Given the description of an element on the screen output the (x, y) to click on. 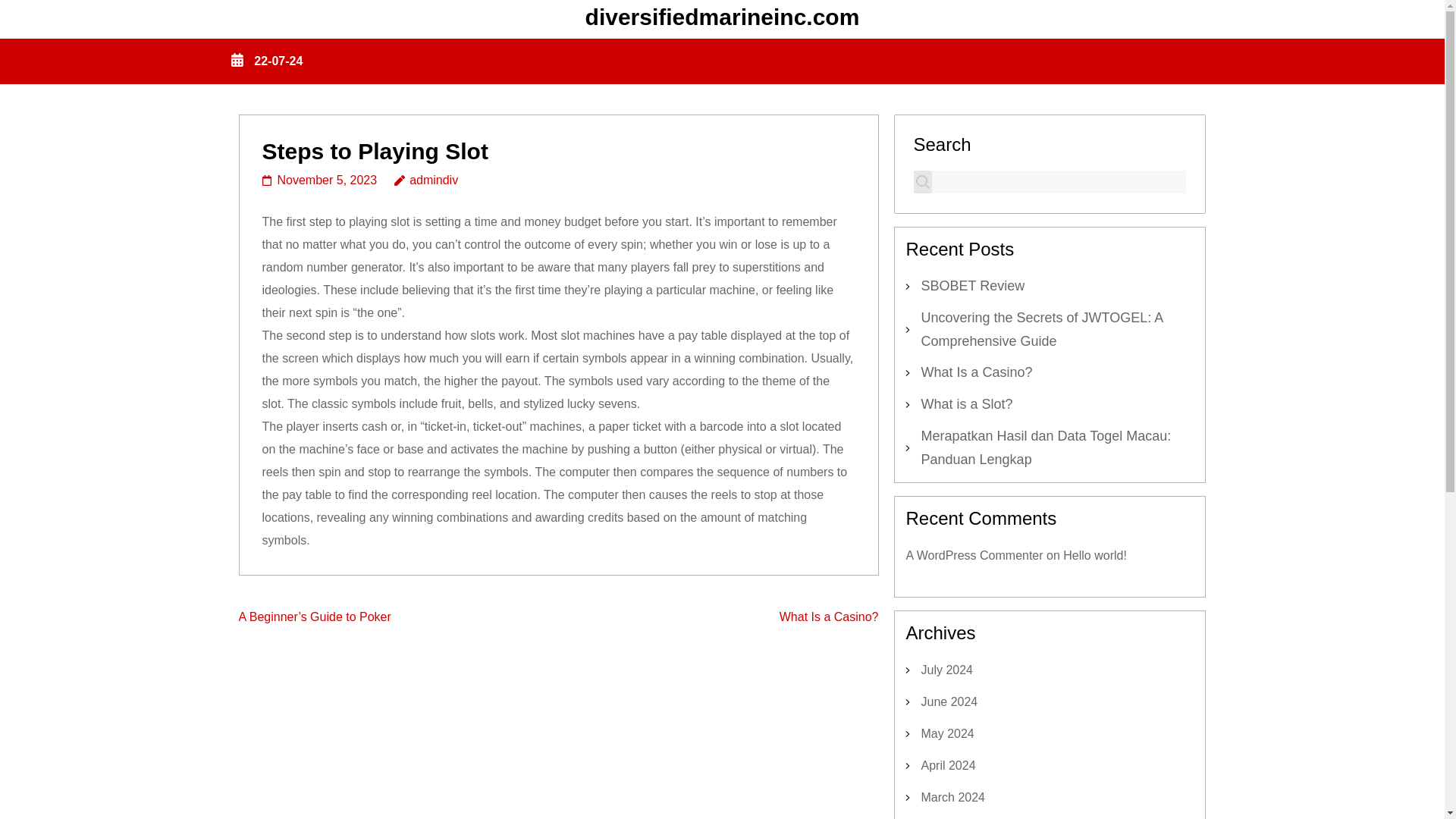
What is a Slot? (965, 403)
May 2024 (947, 733)
March 2024 (952, 797)
June 2024 (948, 701)
November 5, 2023 (319, 179)
Uncovering the Secrets of JWTOGEL: A Comprehensive Guide (1040, 329)
admindiv (426, 179)
July 2024 (946, 669)
diversifiedmarineinc.com (722, 16)
What Is a Casino? (976, 372)
April 2024 (947, 765)
What Is a Casino? (828, 616)
A WordPress Commenter (973, 554)
Hello world! (1094, 554)
Merapatkan Hasil dan Data Togel Macau: Panduan Lengkap (1045, 447)
